Given the description of an element on the screen output the (x, y) to click on. 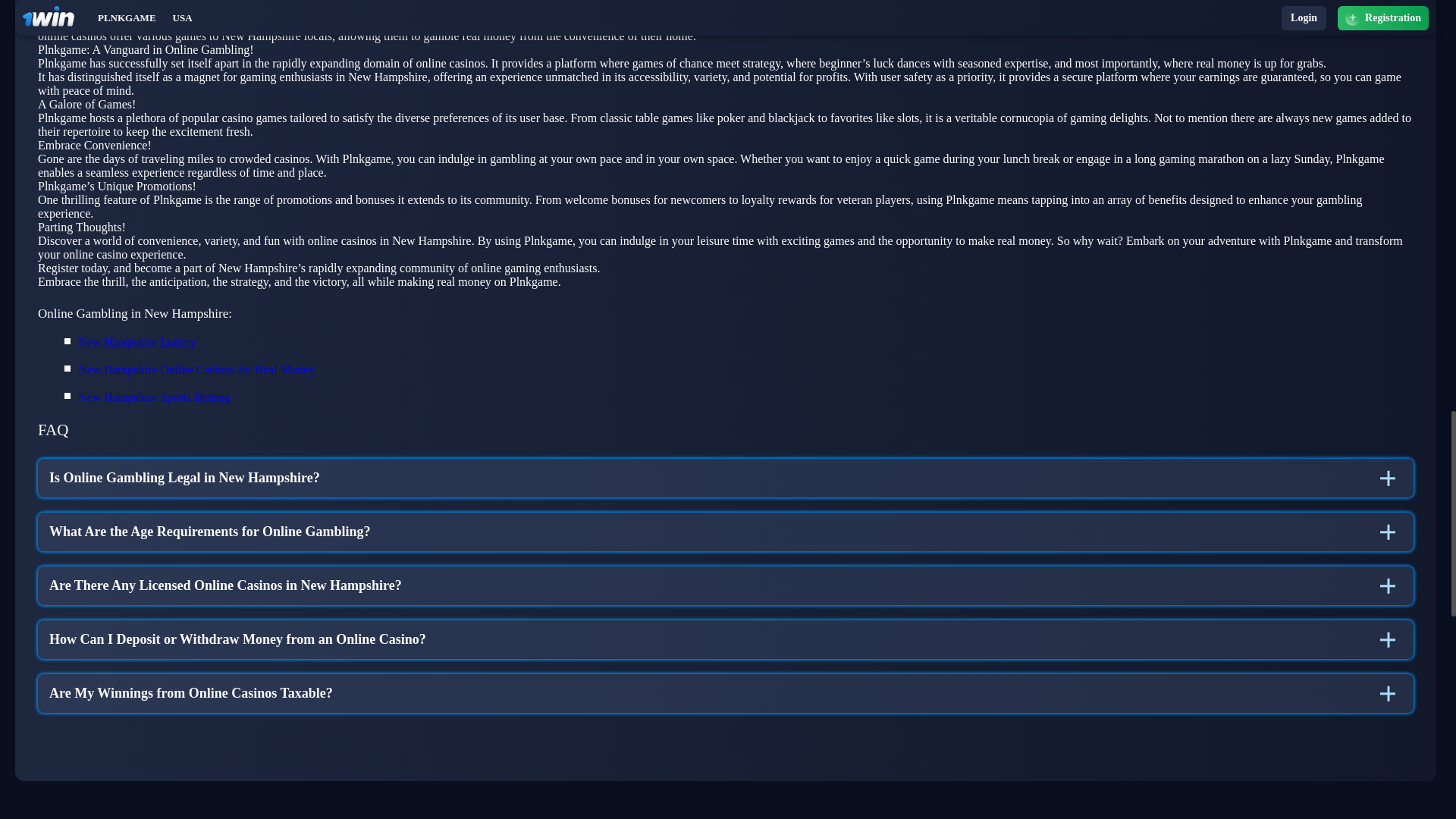
New Hampshire Online Casinos for Real Money (196, 369)
New Hampshire Lottery (137, 342)
New Hampshire Sports Betting (154, 397)
